Given the description of an element on the screen output the (x, y) to click on. 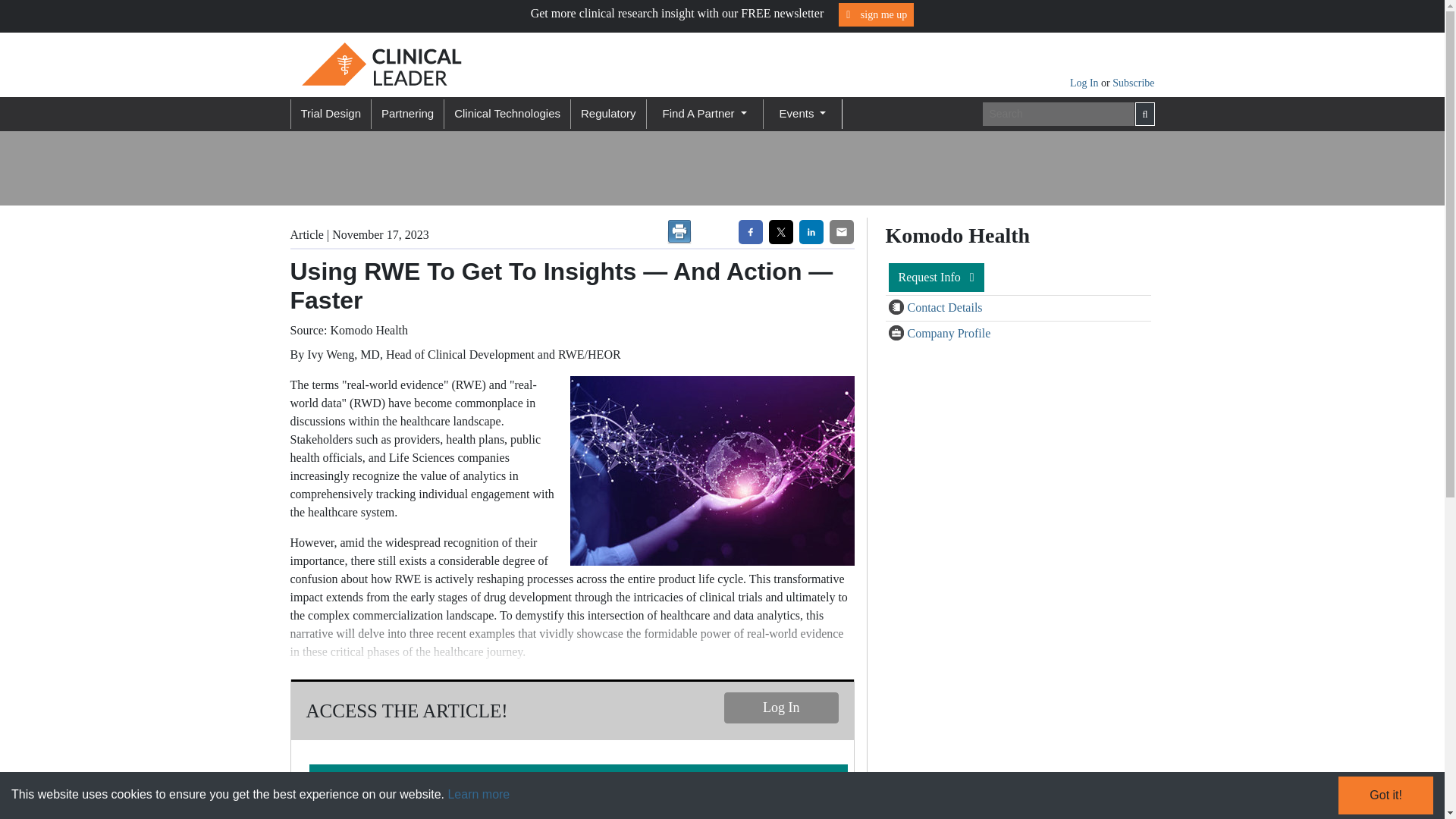
Contact Details (897, 307)
Contact Details (944, 307)
Print (679, 232)
Subscribe to access the full article FREE! (577, 779)
Log In (780, 707)
sign me up (876, 14)
Subscribe (1133, 82)
Log In (1085, 82)
GettyImages-1356381571 world data (708, 470)
Find A Partner (704, 113)
Clinical Technologies (507, 113)
Trial Design (329, 113)
Events (802, 113)
Partnering (407, 113)
Regulatory (608, 113)
